Given the description of an element on the screen output the (x, y) to click on. 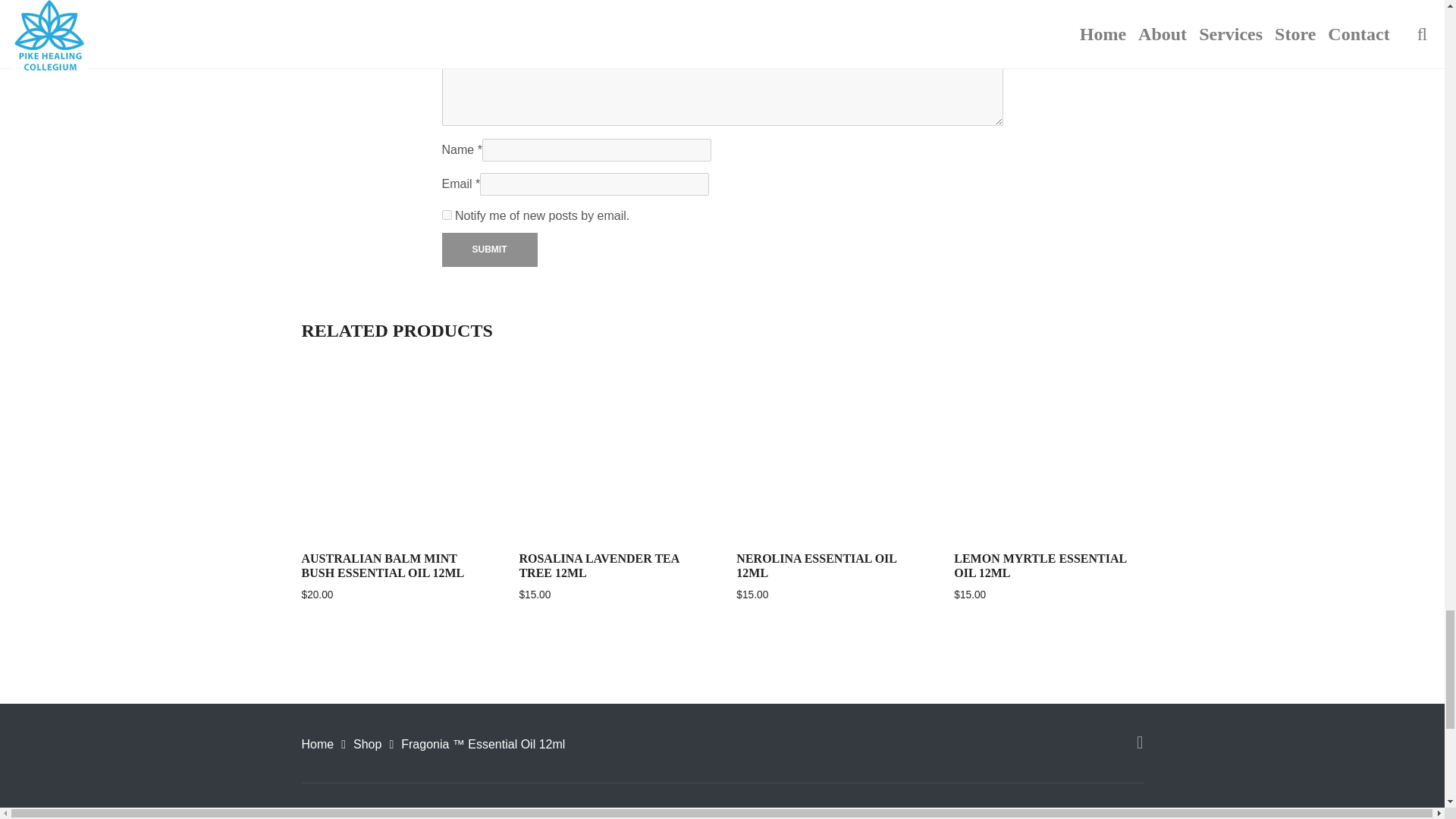
subscribe (446, 214)
Submit (489, 249)
